Given the description of an element on the screen output the (x, y) to click on. 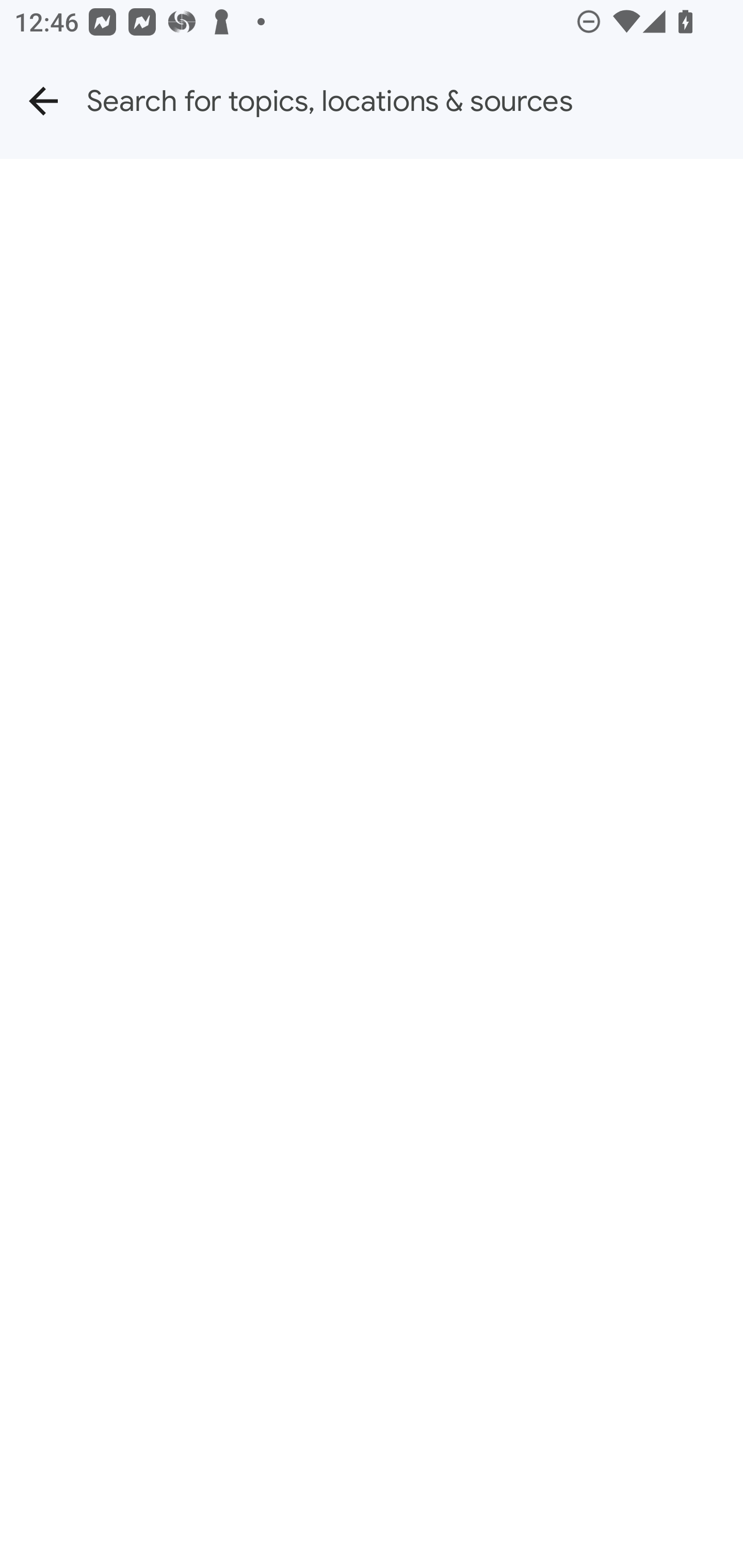
Back (43, 101)
Search for topics, locations & sources (414, 101)
